Given the description of an element on the screen output the (x, y) to click on. 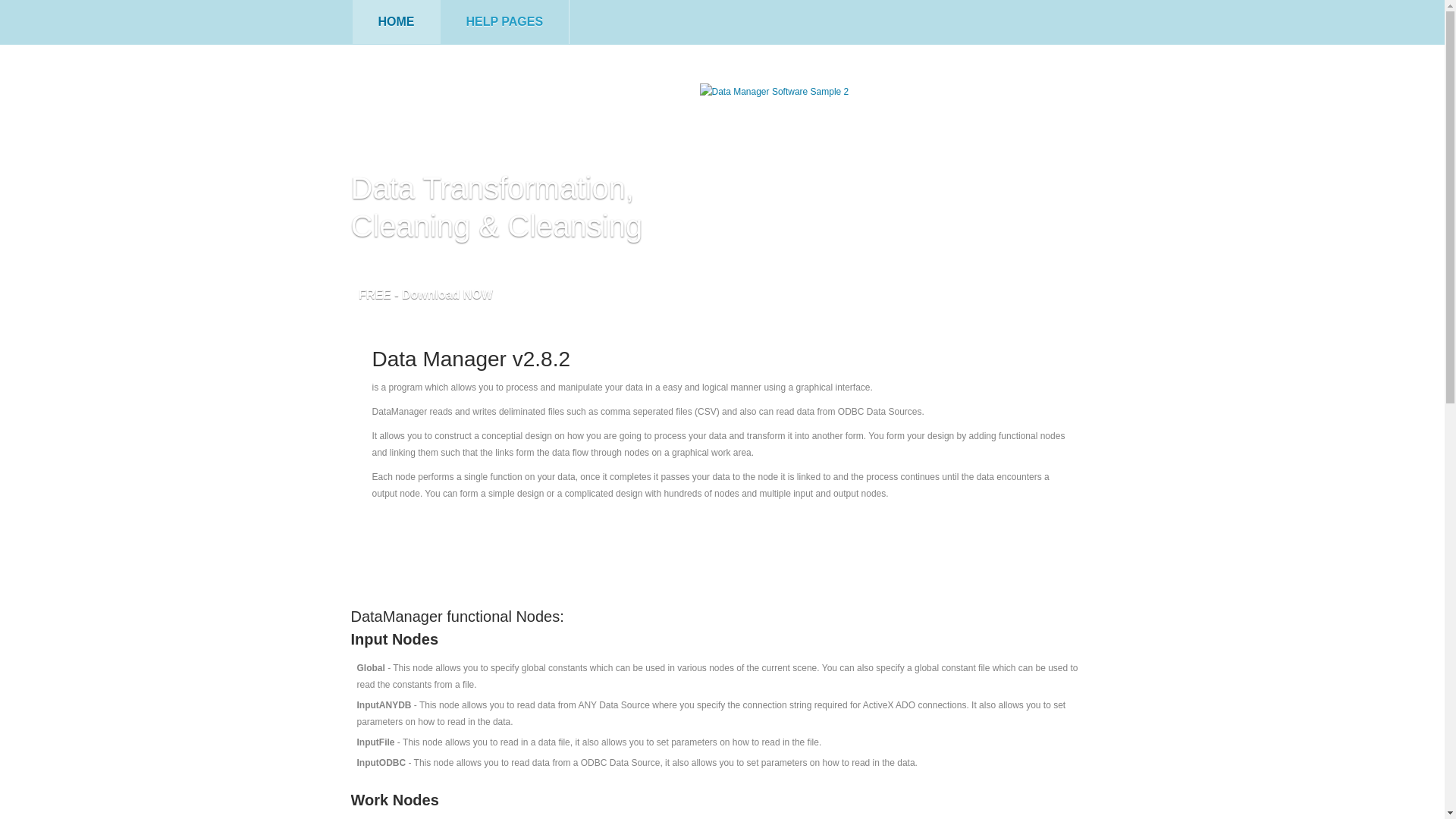
HOME Element type: text (395, 21)
6 Element type: text (1068, 290)
HELP PAGES Element type: text (503, 21)
5 Element type: text (1048, 290)
2 Element type: text (989, 290)
1 Element type: text (969, 290)
3 Element type: text (1009, 290)
4 Element type: text (1028, 290)
Data Manager Software Element type: text (500, 118)
FREE - Download NOW Element type: text (425, 299)
Advertisement Element type: hover (721, 549)
